Given the description of an element on the screen output the (x, y) to click on. 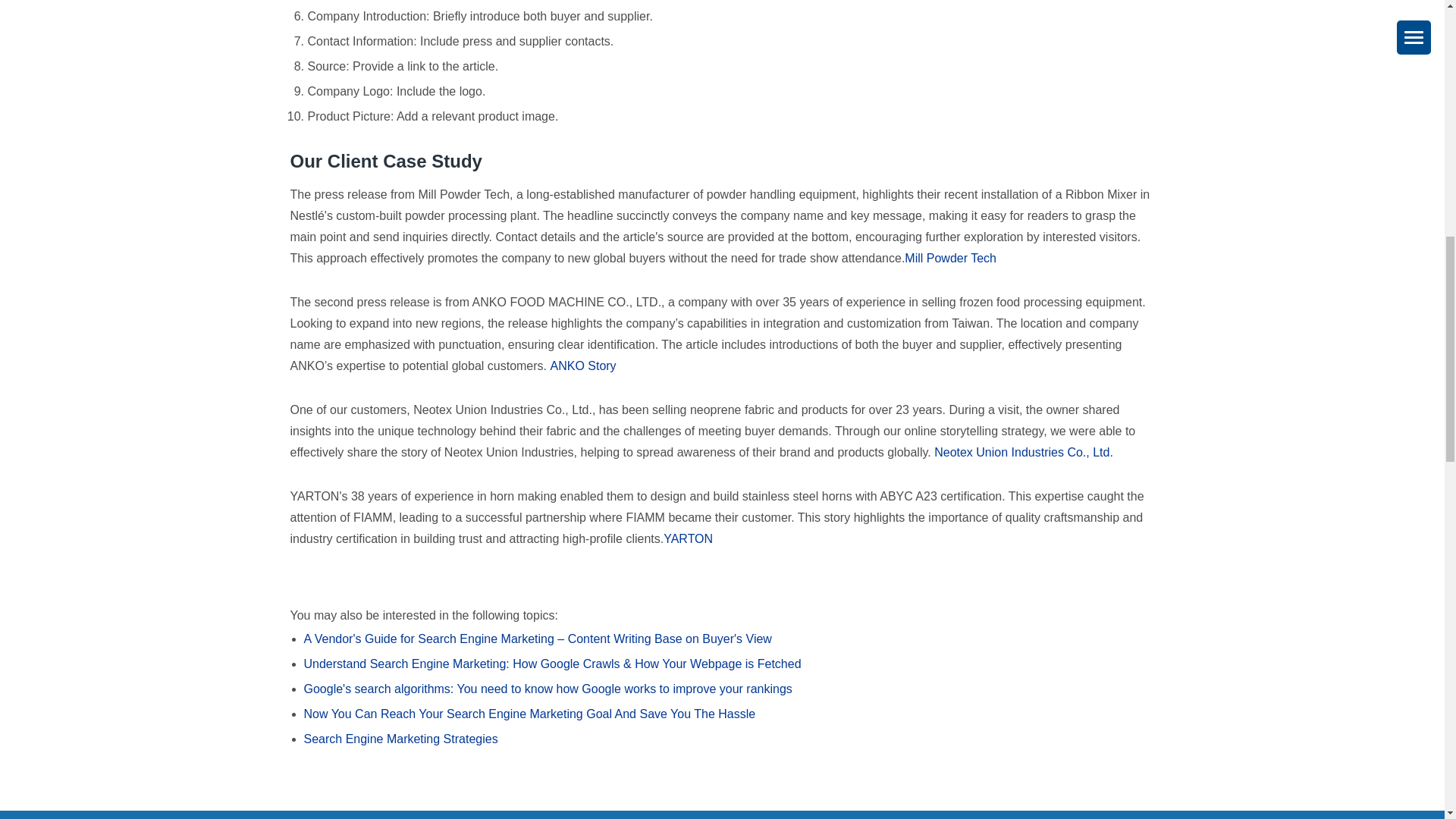
Heavy Truck Warning Light - Horn and Light Supply - YARTON (688, 538)
turbo mill for powder handling machine (949, 258)
